Given the description of an element on the screen output the (x, y) to click on. 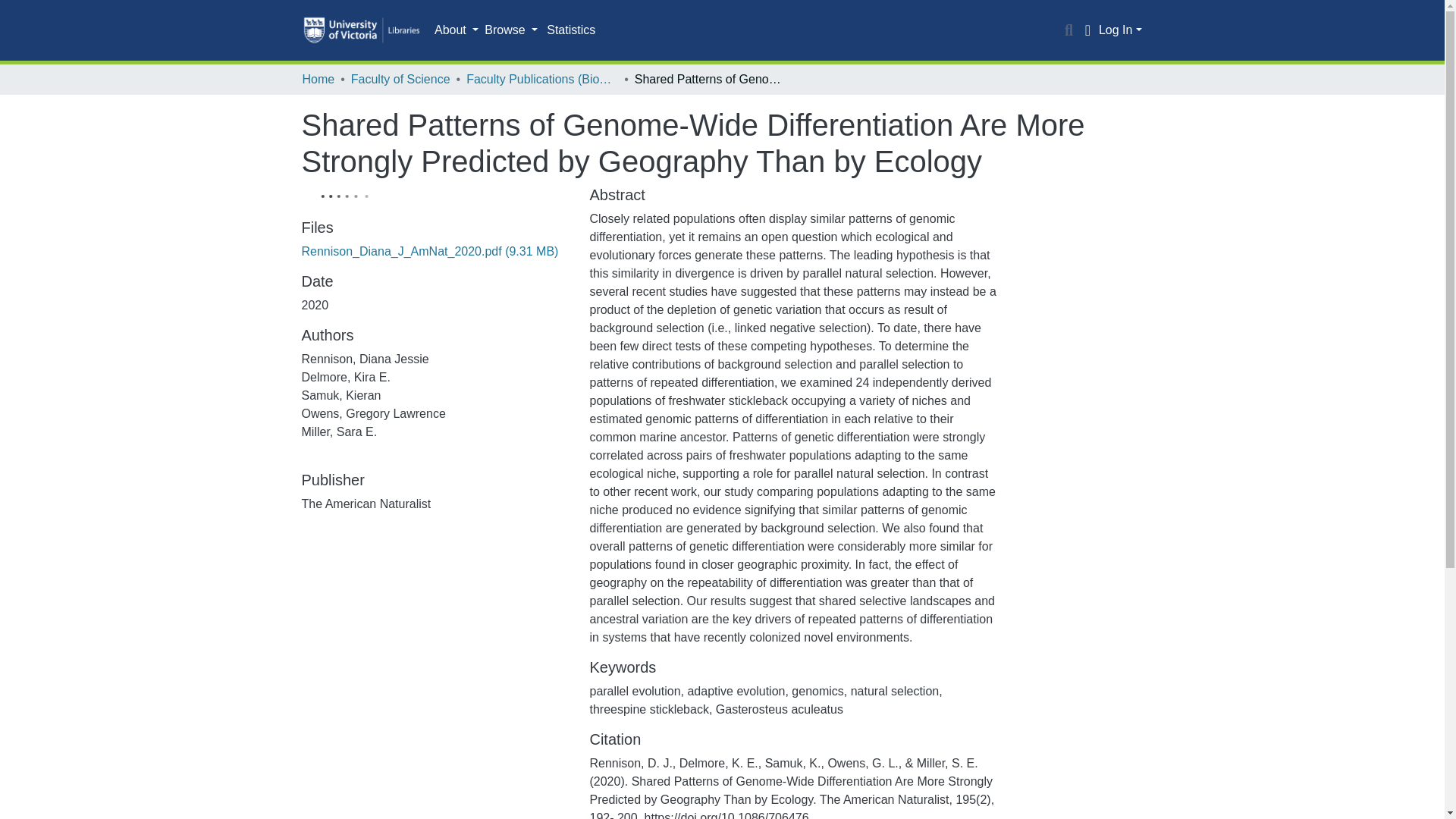
Browse (510, 30)
Faculty of Science (399, 79)
Statistics (570, 30)
Search (1068, 30)
Language switch (1087, 30)
About (455, 30)
Log In (1119, 29)
Statistics (570, 30)
Home (317, 79)
